Given the description of an element on the screen output the (x, y) to click on. 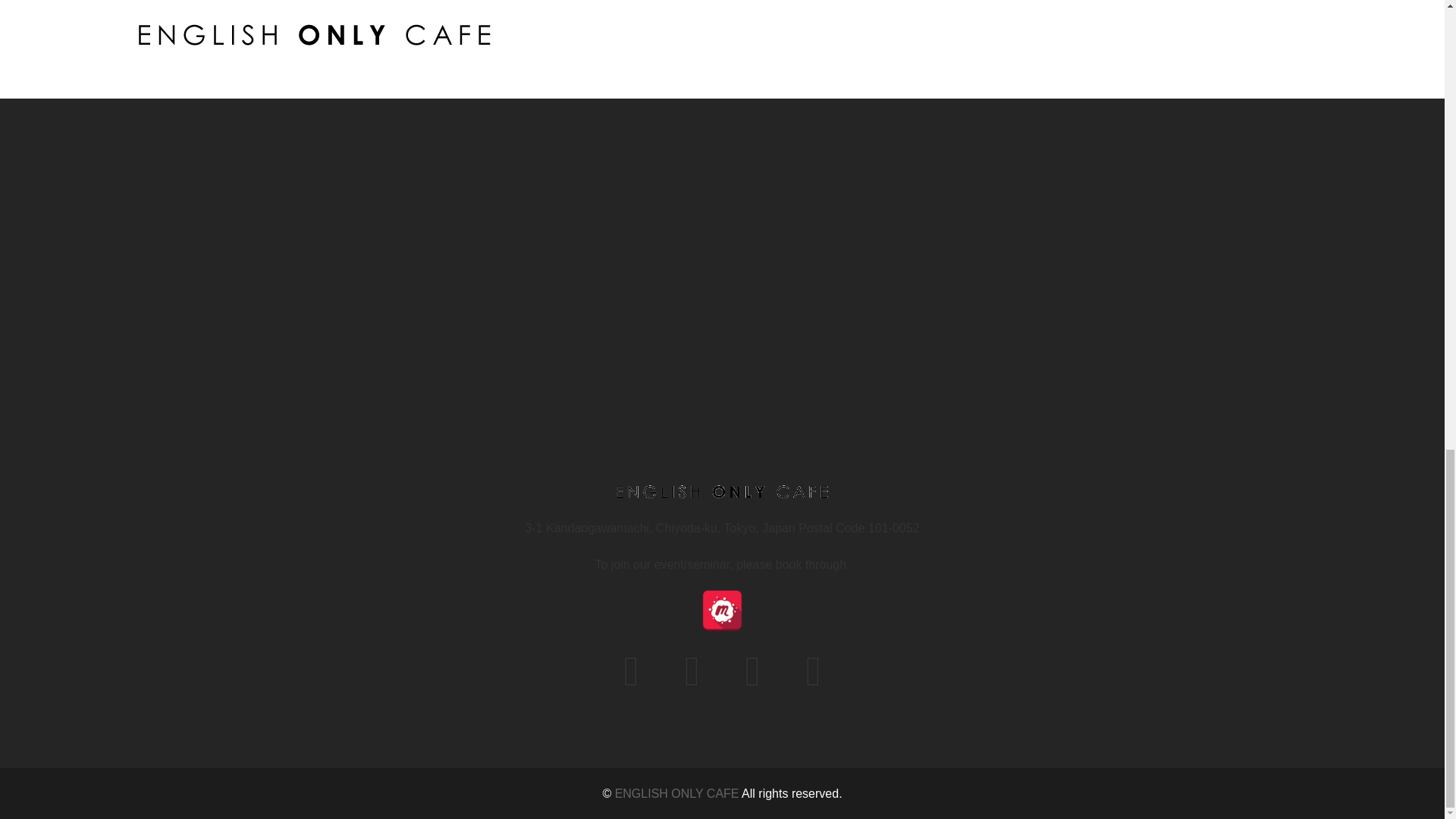
Meetup (721, 610)
Youtube (812, 680)
Fb (630, 680)
Instagram (751, 680)
Twitter (691, 680)
ENGLISH ONLY CAFE (676, 793)
